Given the description of an element on the screen output the (x, y) to click on. 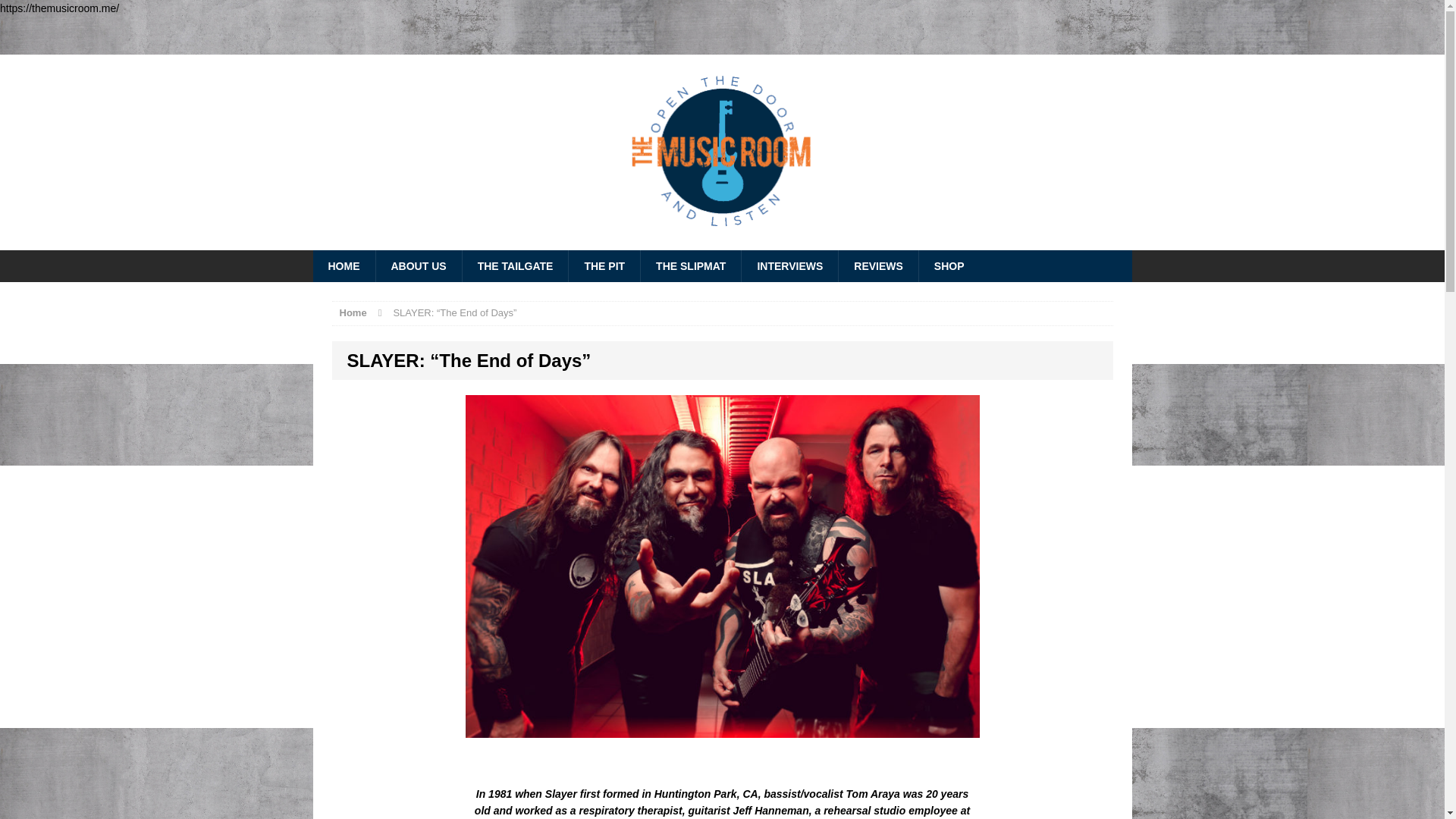
REVIEWS (878, 265)
INTERVIEWS (789, 265)
HOME (343, 265)
THE PIT (603, 265)
THE TAILGATE (515, 265)
SHOP (948, 265)
ABOUT US (417, 265)
THE SLIPMAT (690, 265)
Home (352, 312)
